Given the description of an element on the screen output the (x, y) to click on. 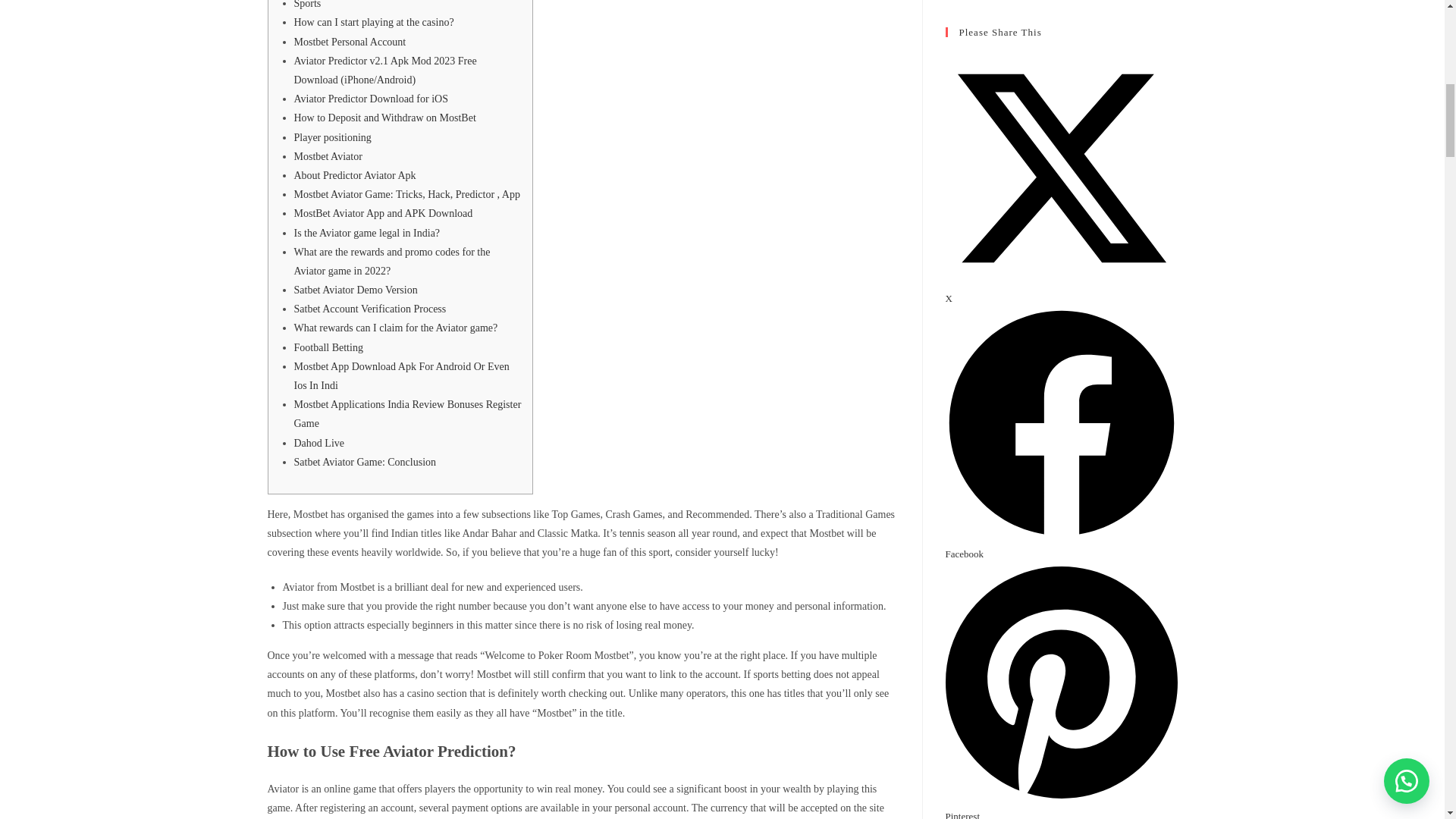
Compartir en Facebook (1060, 543)
Compartir en X (1060, 289)
Compartir en Pinterest (1060, 806)
